Given the description of an element on the screen output the (x, y) to click on. 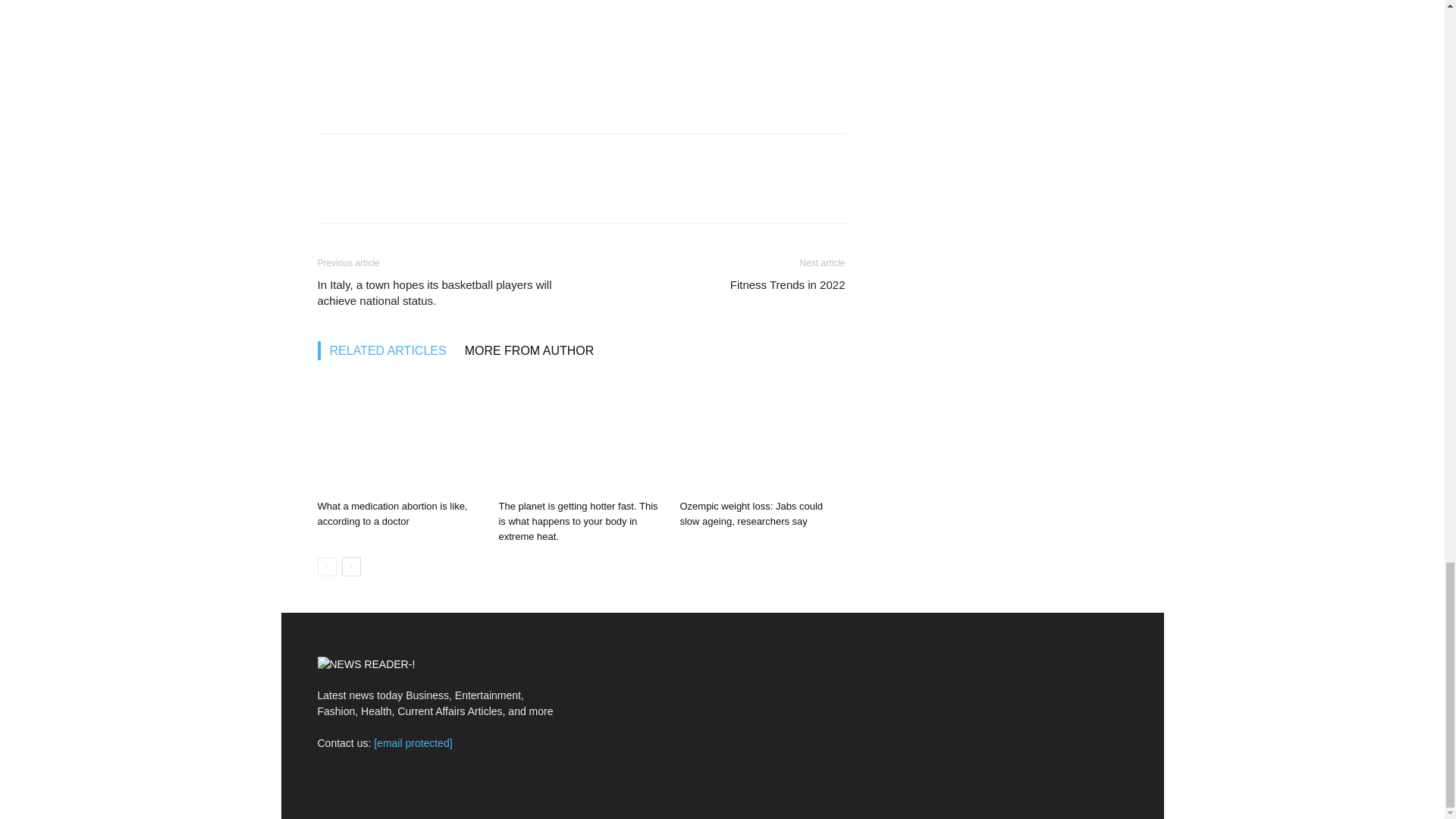
bottomFacebookLike (430, 157)
Fitness Trends in 2022 (787, 284)
